Given the description of an element on the screen output the (x, y) to click on. 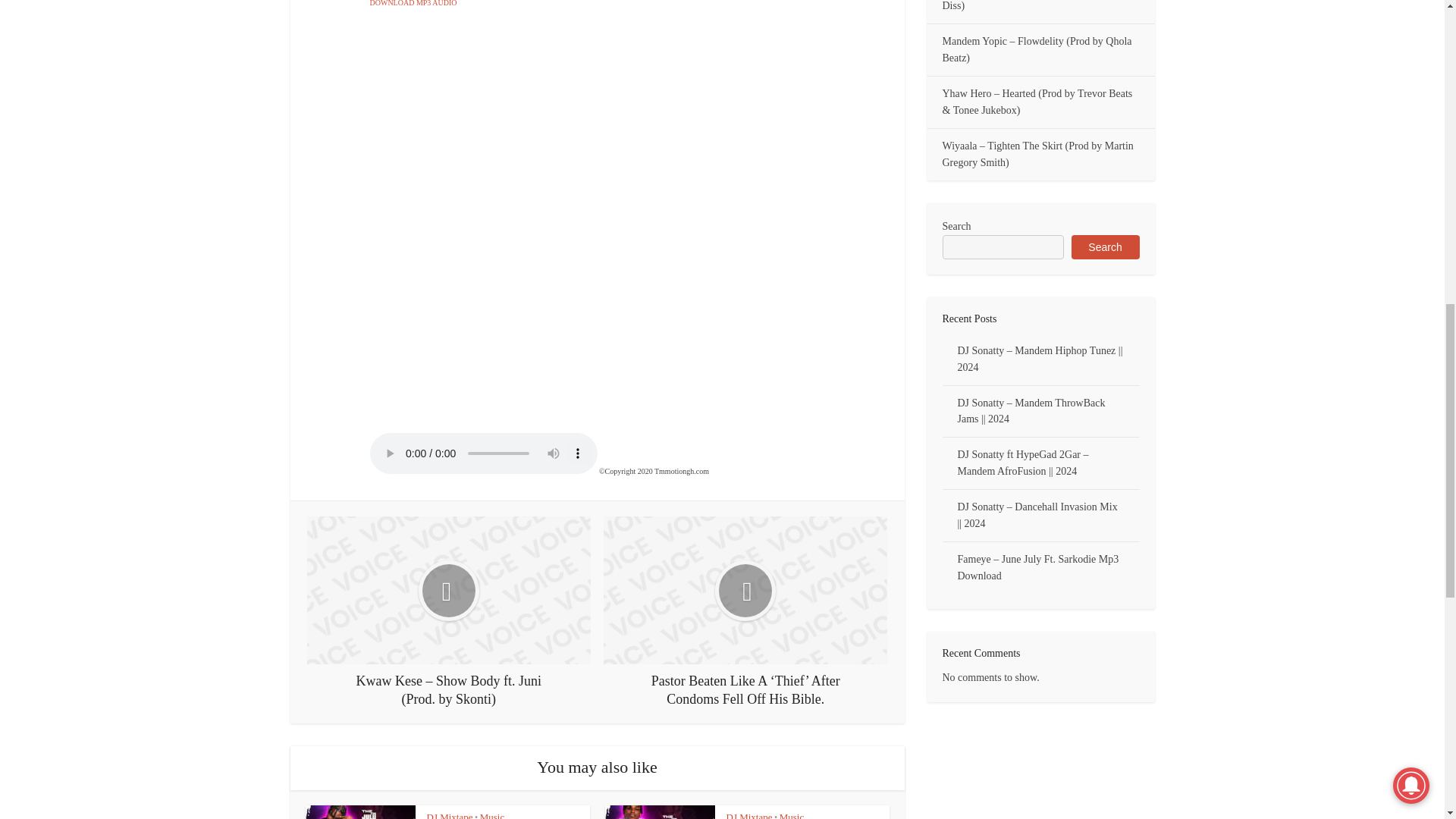
DOWNLOAD MP3 AUDIO  (414, 3)
